Given the description of an element on the screen output the (x, y) to click on. 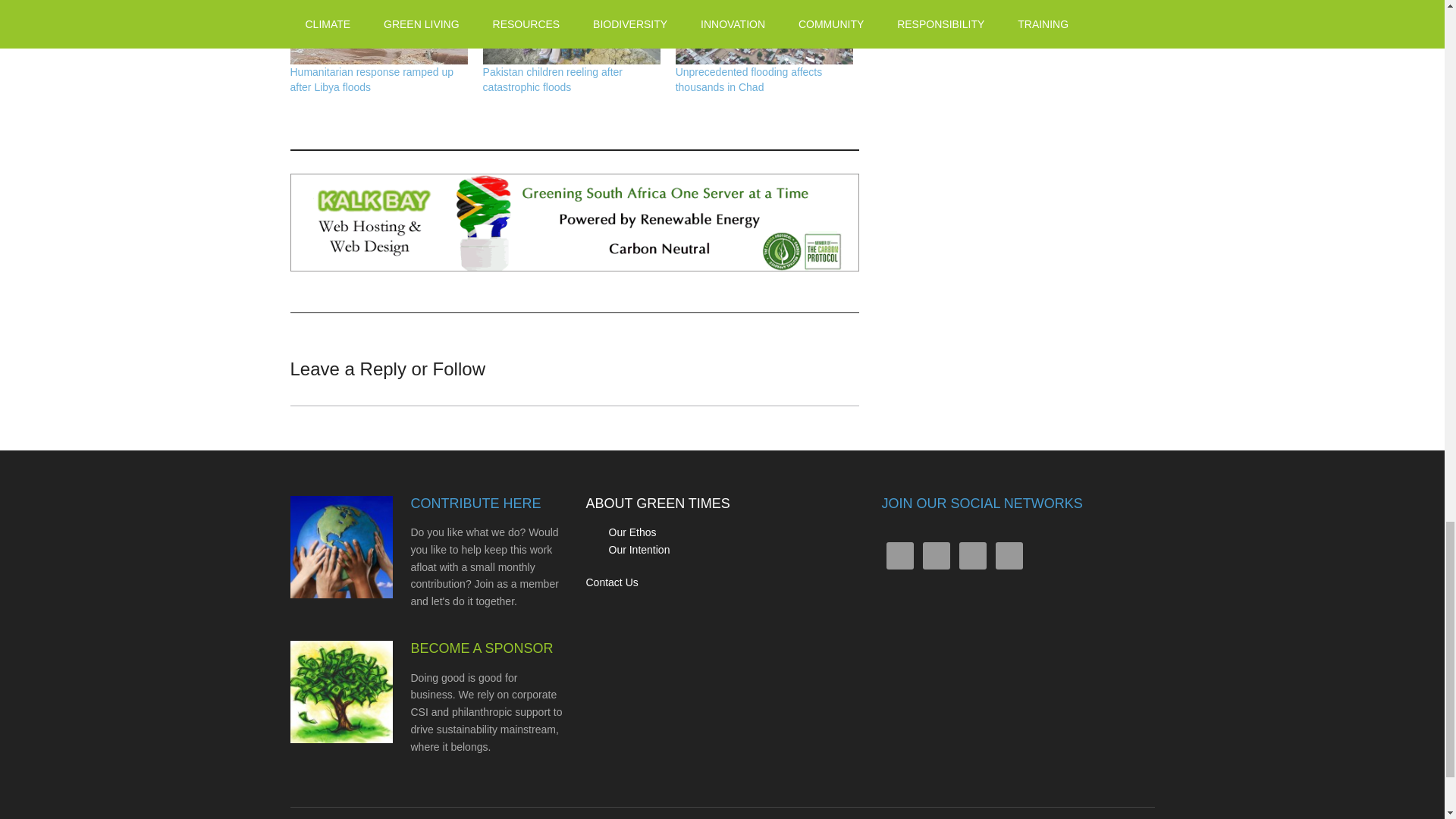
Unprecedented flooding affects thousands in Chad (764, 32)
Pakistan children reeling after catastrophic floods (572, 32)
Unprecedented flooding affects thousands in Chad (748, 79)
Humanitarian response ramped up after Libya floods (378, 32)
Humanitarian response ramped up after Libya floods (370, 79)
Pakistan children reeling after catastrophic floods (553, 79)
